Given the description of an element on the screen output the (x, y) to click on. 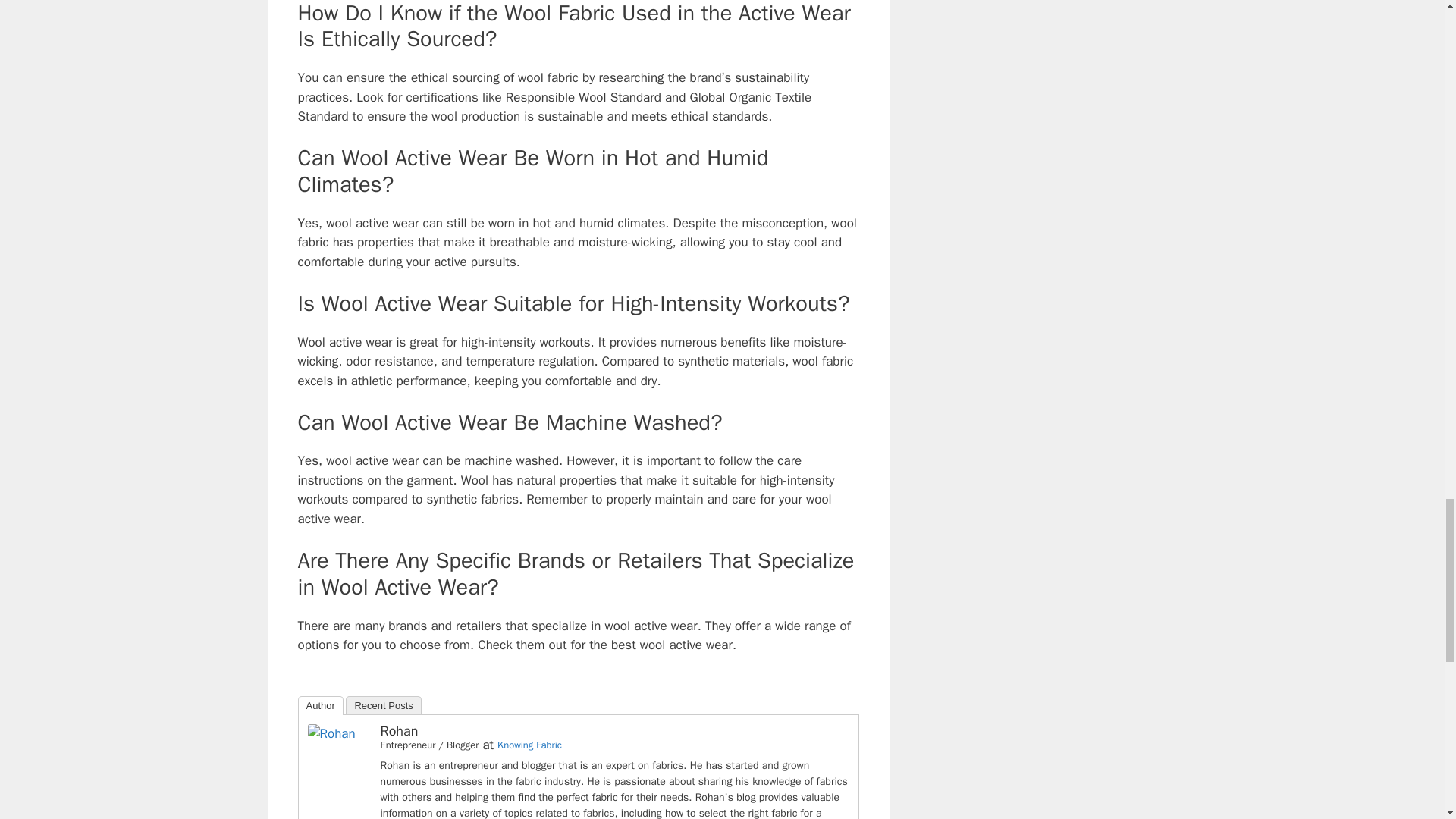
Rohan (331, 733)
Recent Posts (383, 704)
Rohan (399, 730)
Author (319, 705)
Knowing Fabric (529, 744)
